Given the description of an element on the screen output the (x, y) to click on. 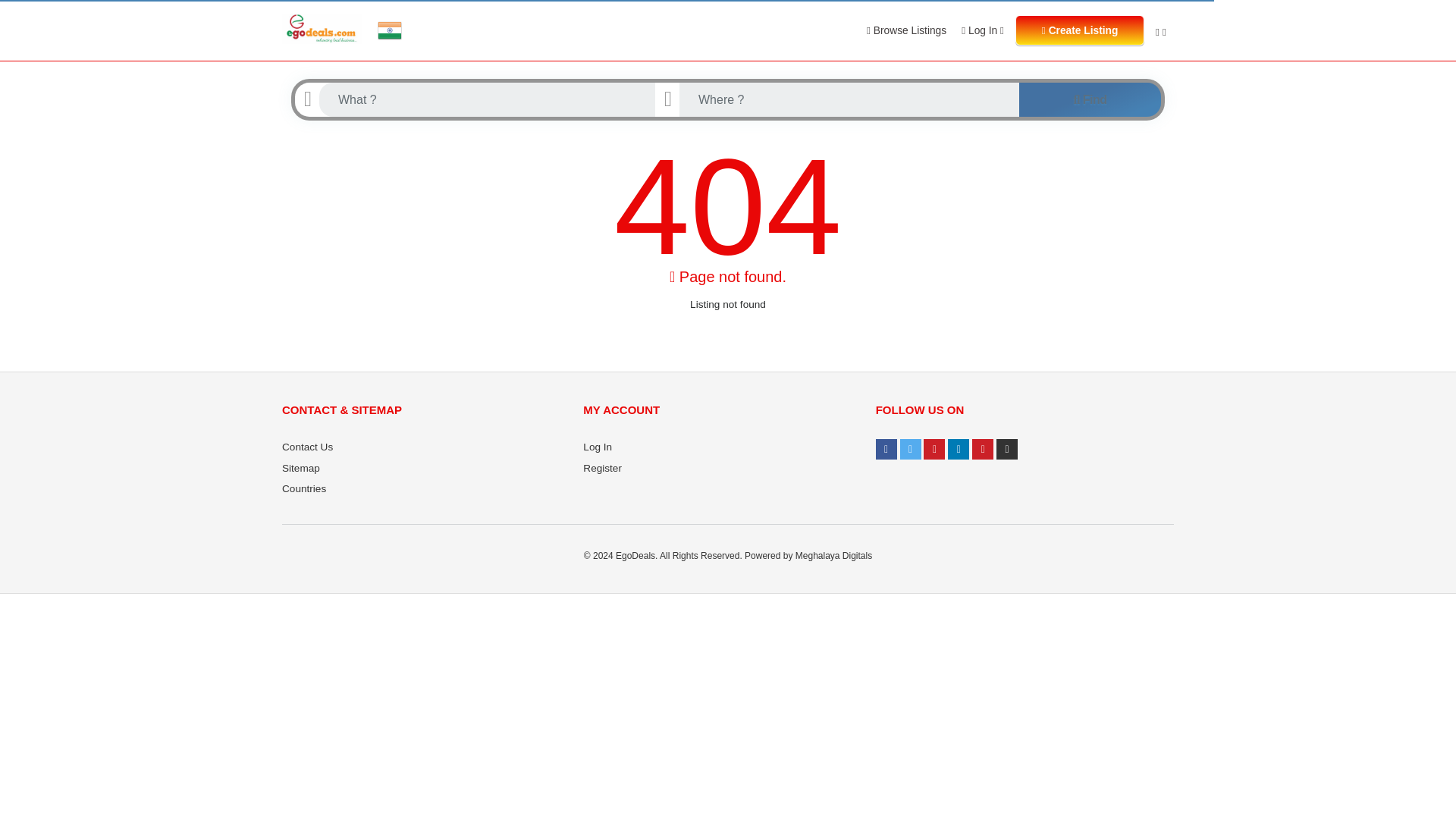
Contact Us (307, 446)
Sitemap (301, 468)
Countries (304, 488)
Register (602, 468)
Find (1089, 100)
Log In (597, 446)
Log In (982, 30)
Create Listing (1079, 30)
Browse Listings (906, 30)
